Given the description of an element on the screen output the (x, y) to click on. 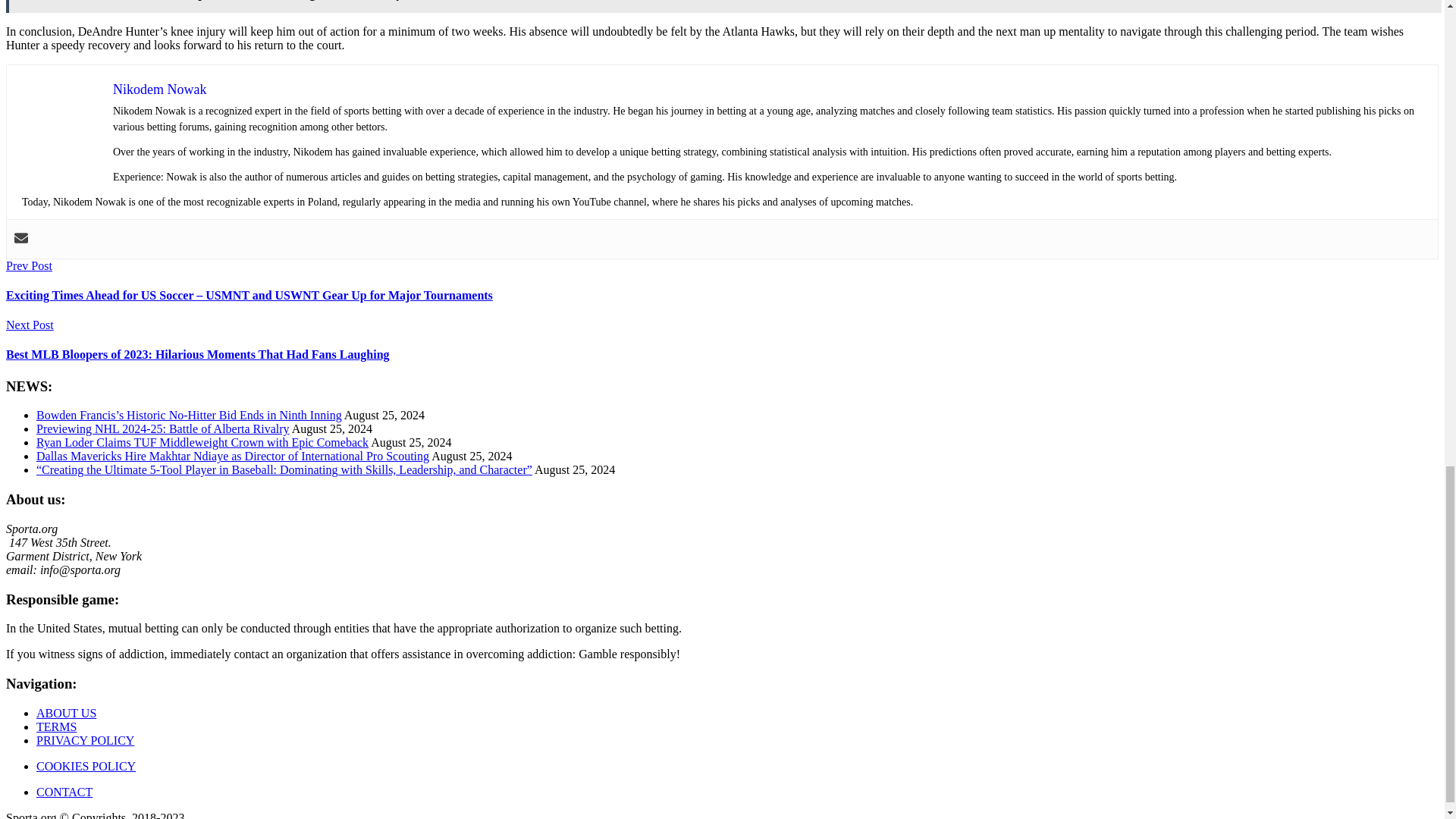
TERMS (56, 726)
PRIVACY POLICY (84, 739)
Nikodem Nowak (159, 89)
Previewing NHL 2024-25: Battle of Alberta Rivalry (162, 428)
ABOUT US (66, 712)
Ryan Loder Claims TUF Middleweight Crown with Epic Comeback (202, 441)
